Given the description of an element on the screen output the (x, y) to click on. 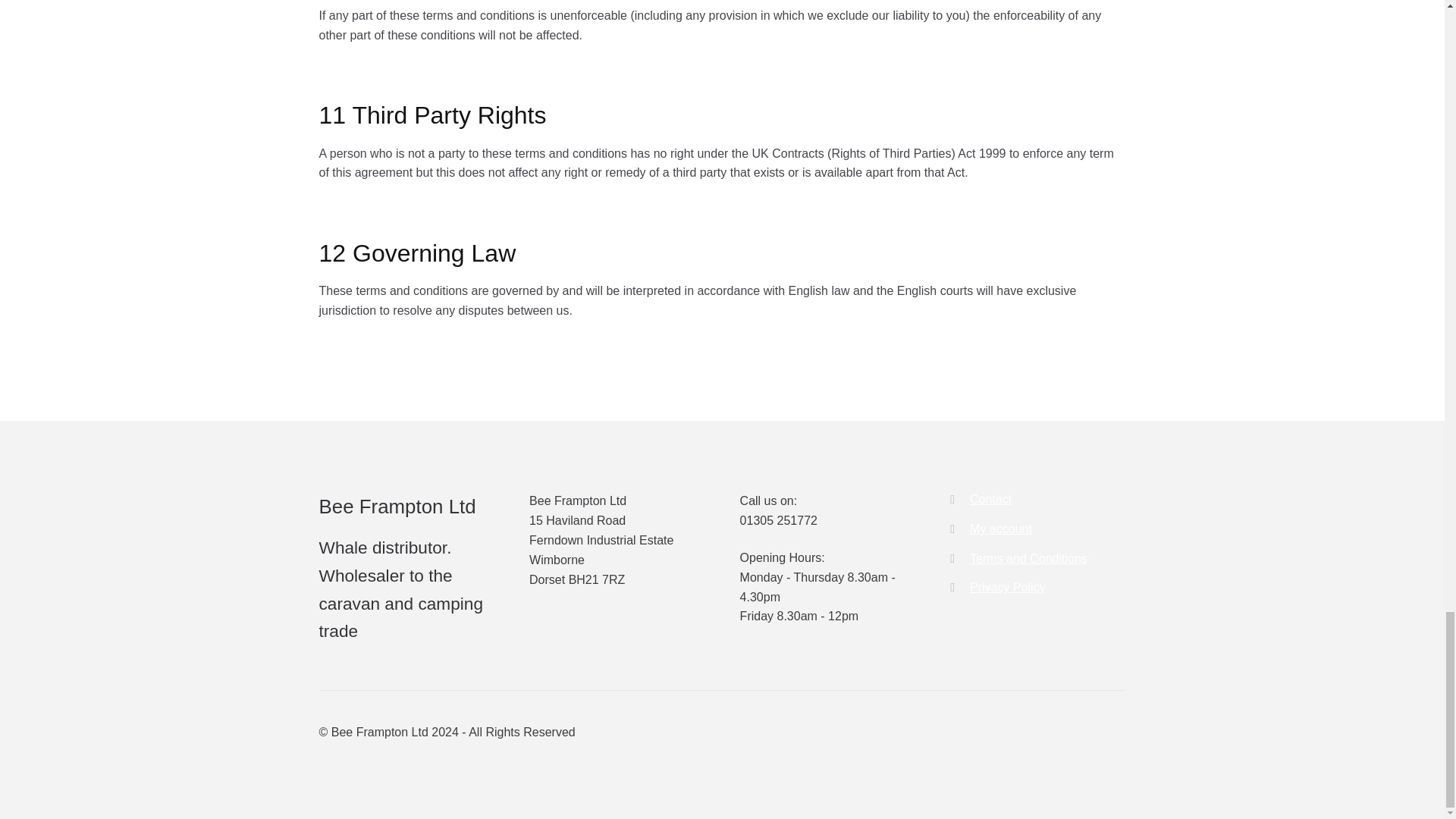
Terms and Conditions (1028, 558)
Contact (990, 499)
Privacy Policy (1007, 586)
My account (1000, 528)
